Given the description of an element on the screen output the (x, y) to click on. 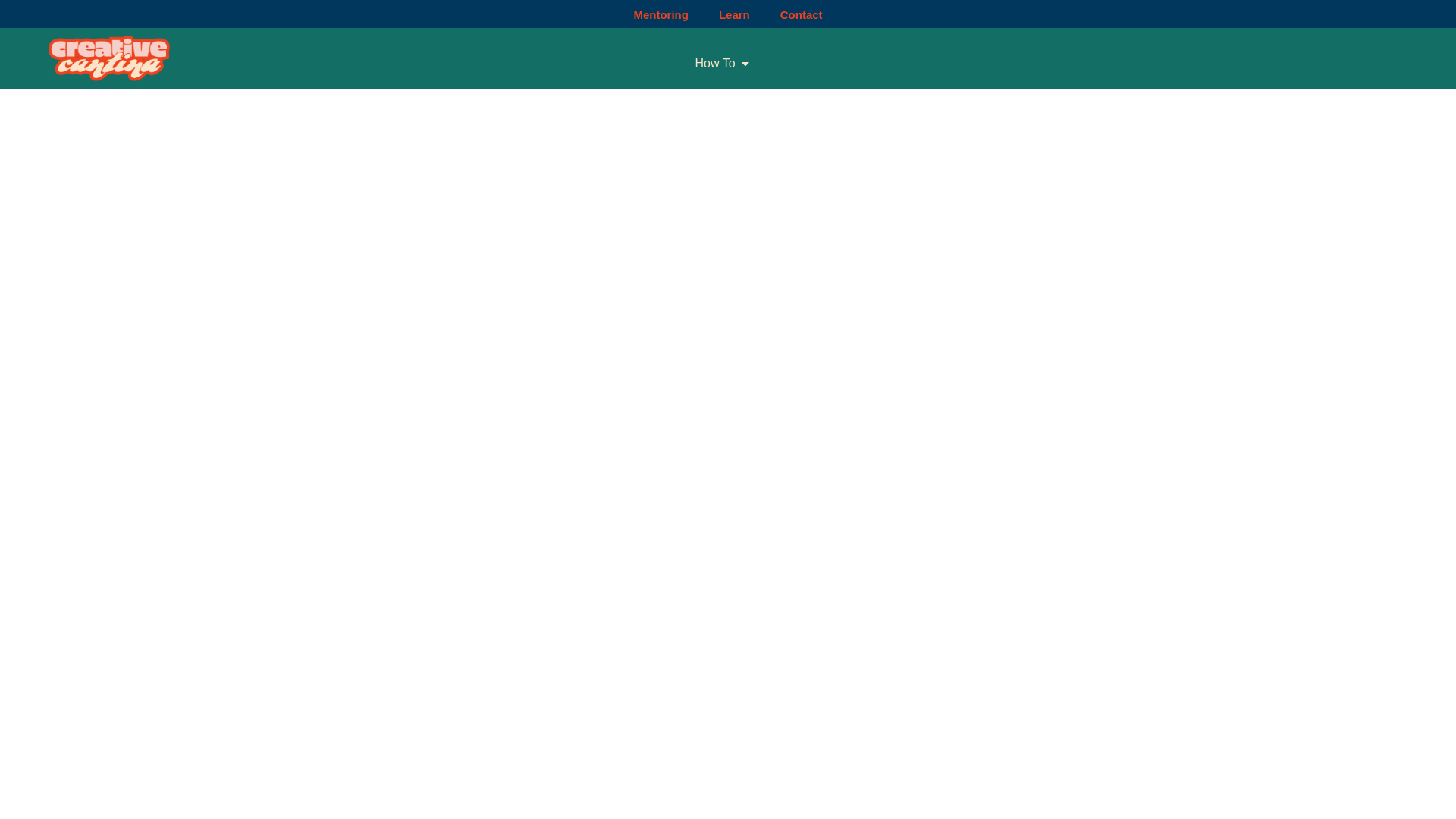
Contact (801, 14)
Learn (734, 14)
How To (715, 63)
Mentoring (660, 14)
